Given the description of an element on the screen output the (x, y) to click on. 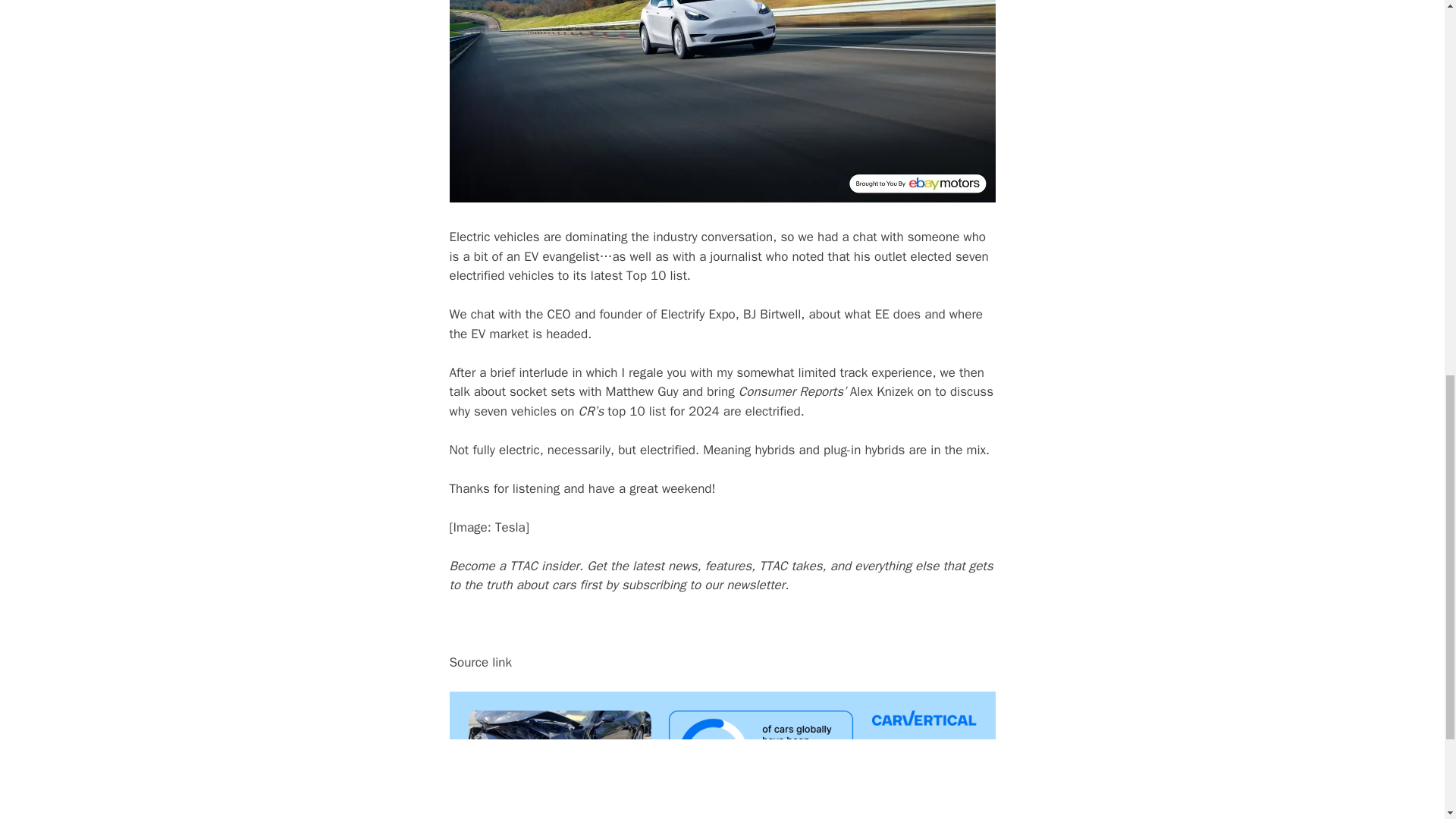
Source link (480, 662)
top 10 list for 2024 (663, 411)
Matthew Guy (641, 391)
Electrify Expo (698, 314)
subscribing to our newsletter (702, 584)
Scroll back to top (1406, 720)
